Given the description of an element on the screen output the (x, y) to click on. 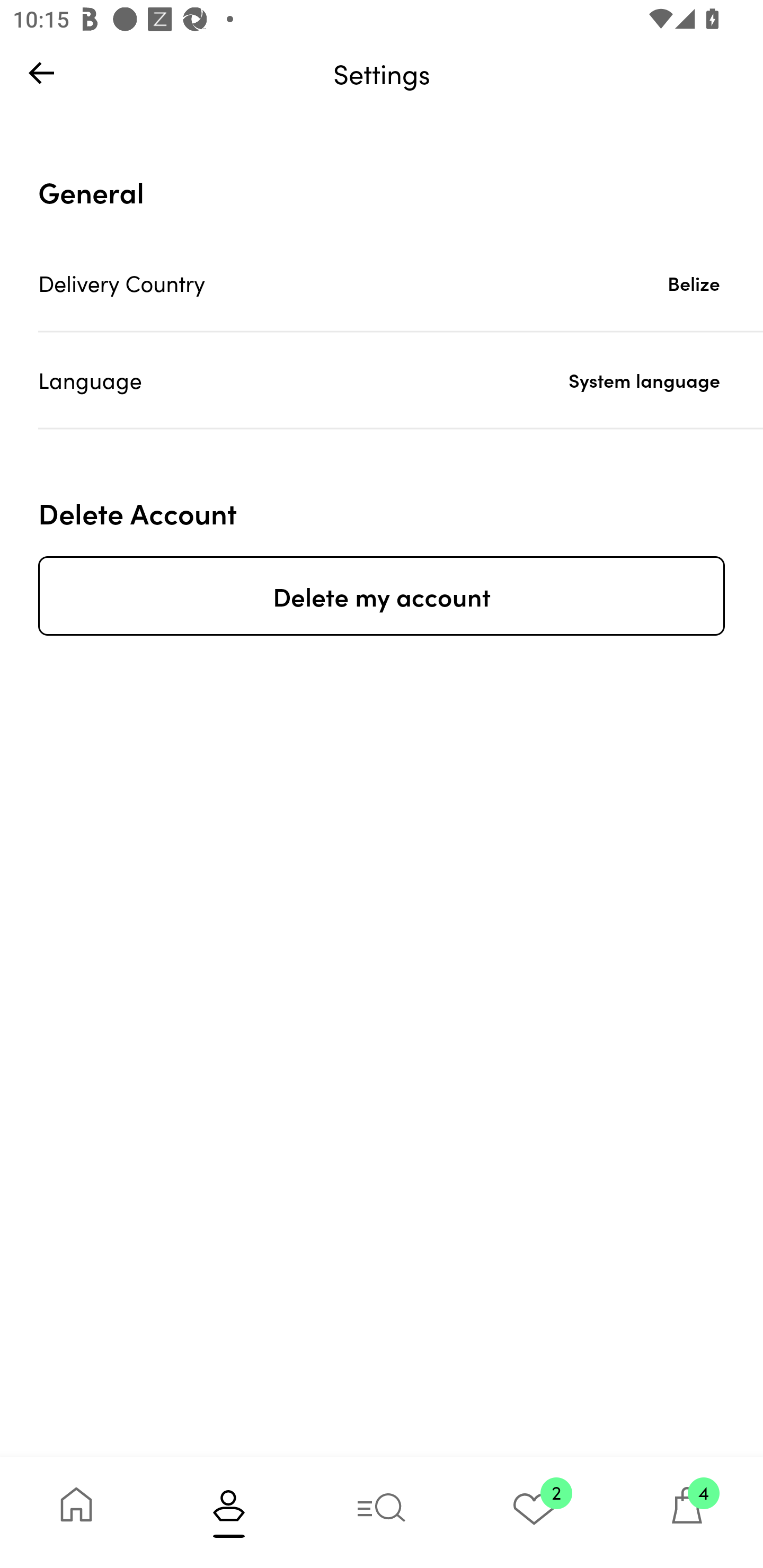
Delivery Country Belize (400, 282)
Language System language (400, 380)
Delete my account (381, 595)
2 (533, 1512)
4 (686, 1512)
